Given the description of an element on the screen output the (x, y) to click on. 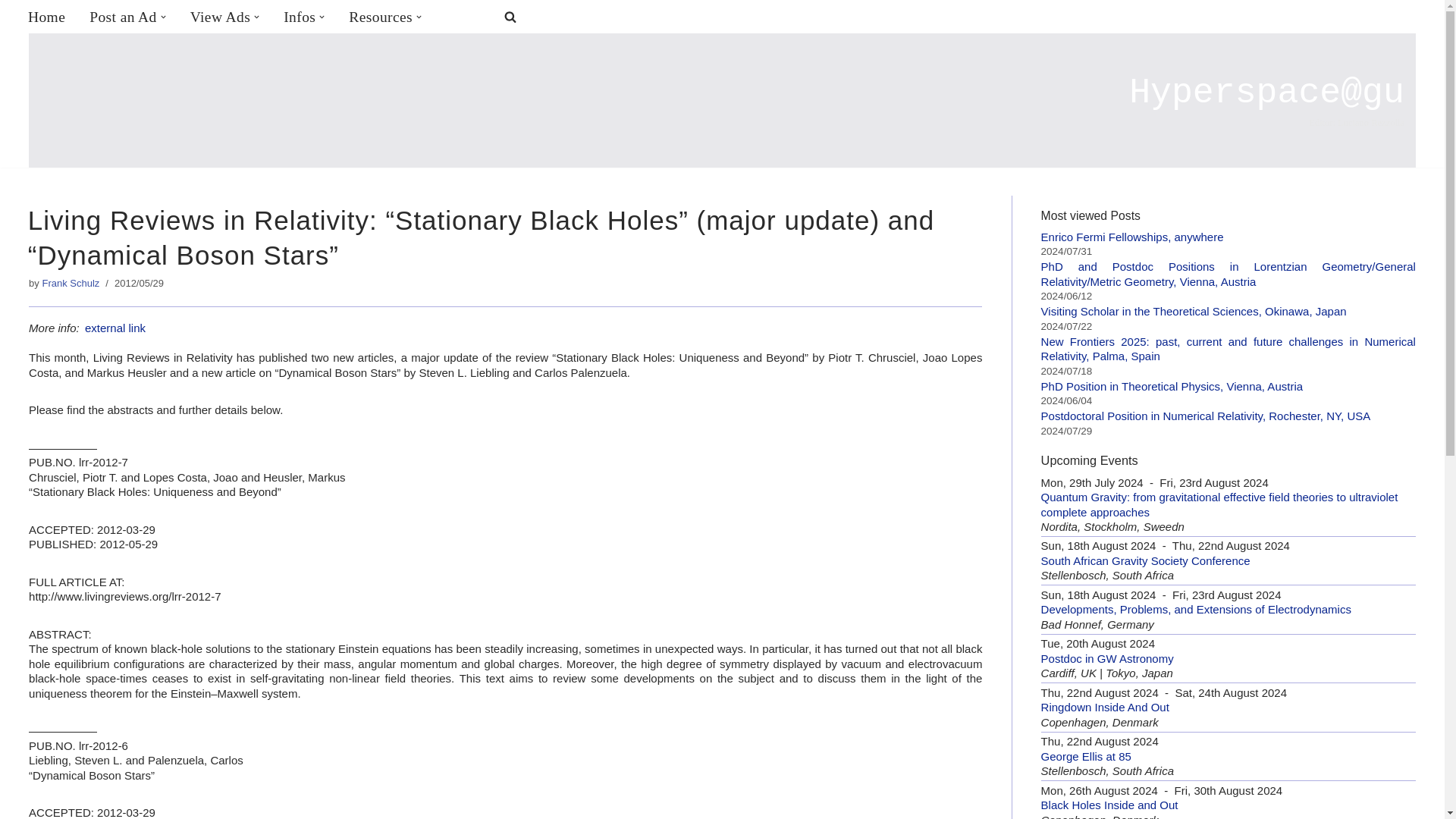
Resources (380, 16)
Post an Ad (122, 16)
Click here to publish an annoucement (122, 16)
View Ads (220, 16)
Skip to content (11, 31)
Infos (299, 16)
Home (46, 16)
Click here to see the published annoucements (220, 16)
Information of various type (299, 16)
